Given the description of an element on the screen output the (x, y) to click on. 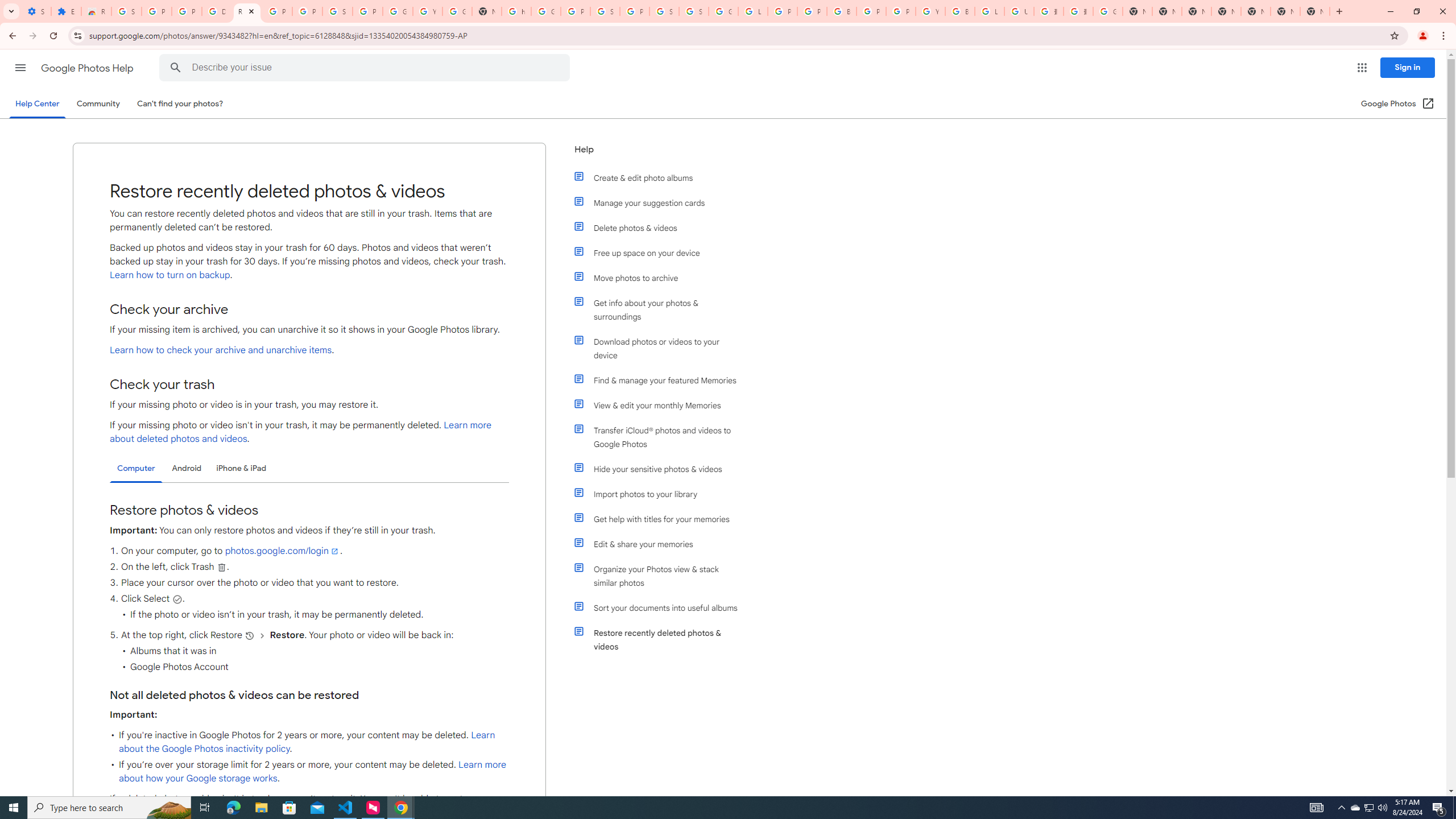
Organize your Photos view & stack similar photos (661, 575)
Search Help Center (176, 67)
